Given the description of an element on the screen output the (x, y) to click on. 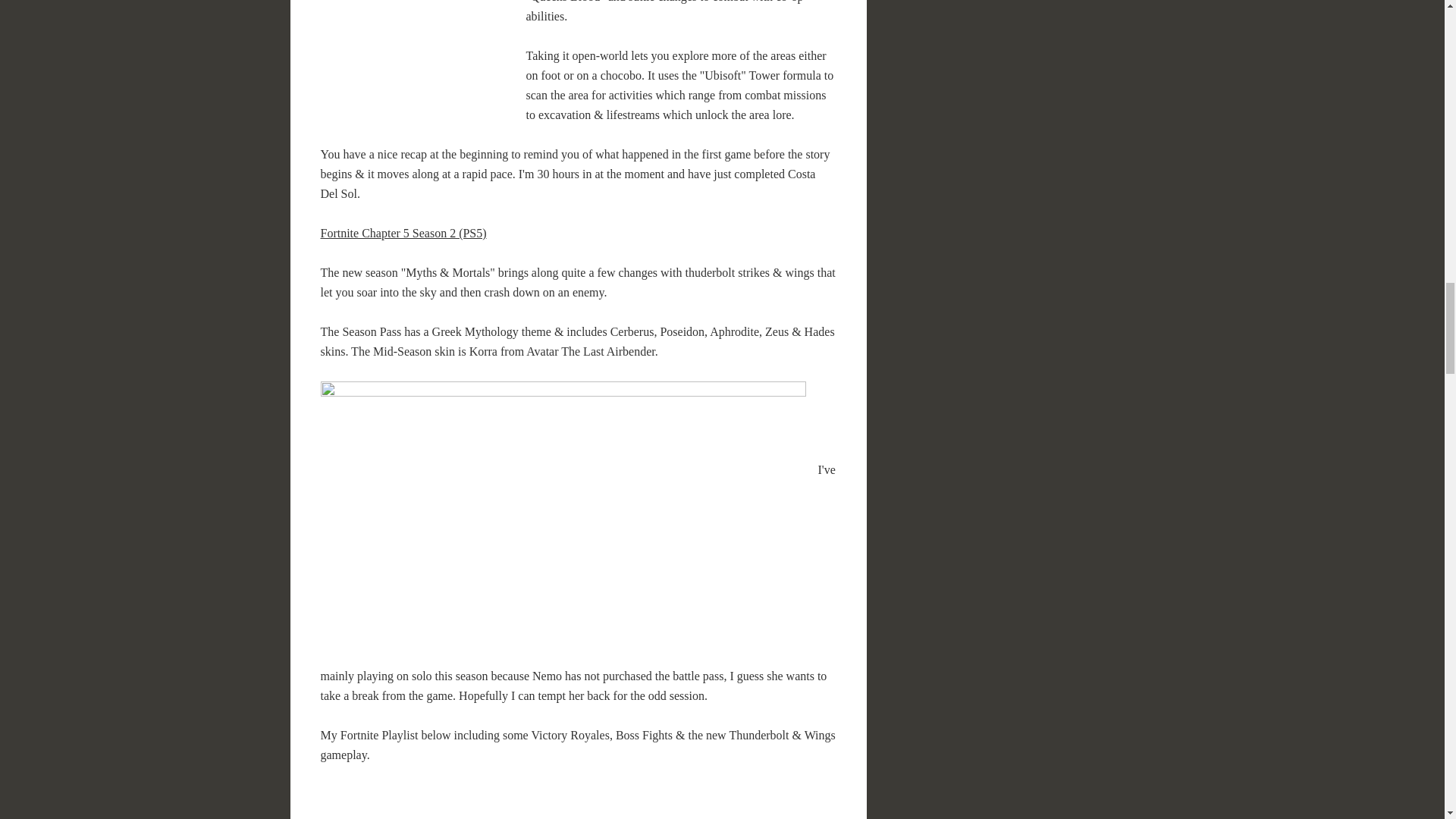
YouTube video player (535, 801)
